Given the description of an element on the screen output the (x, y) to click on. 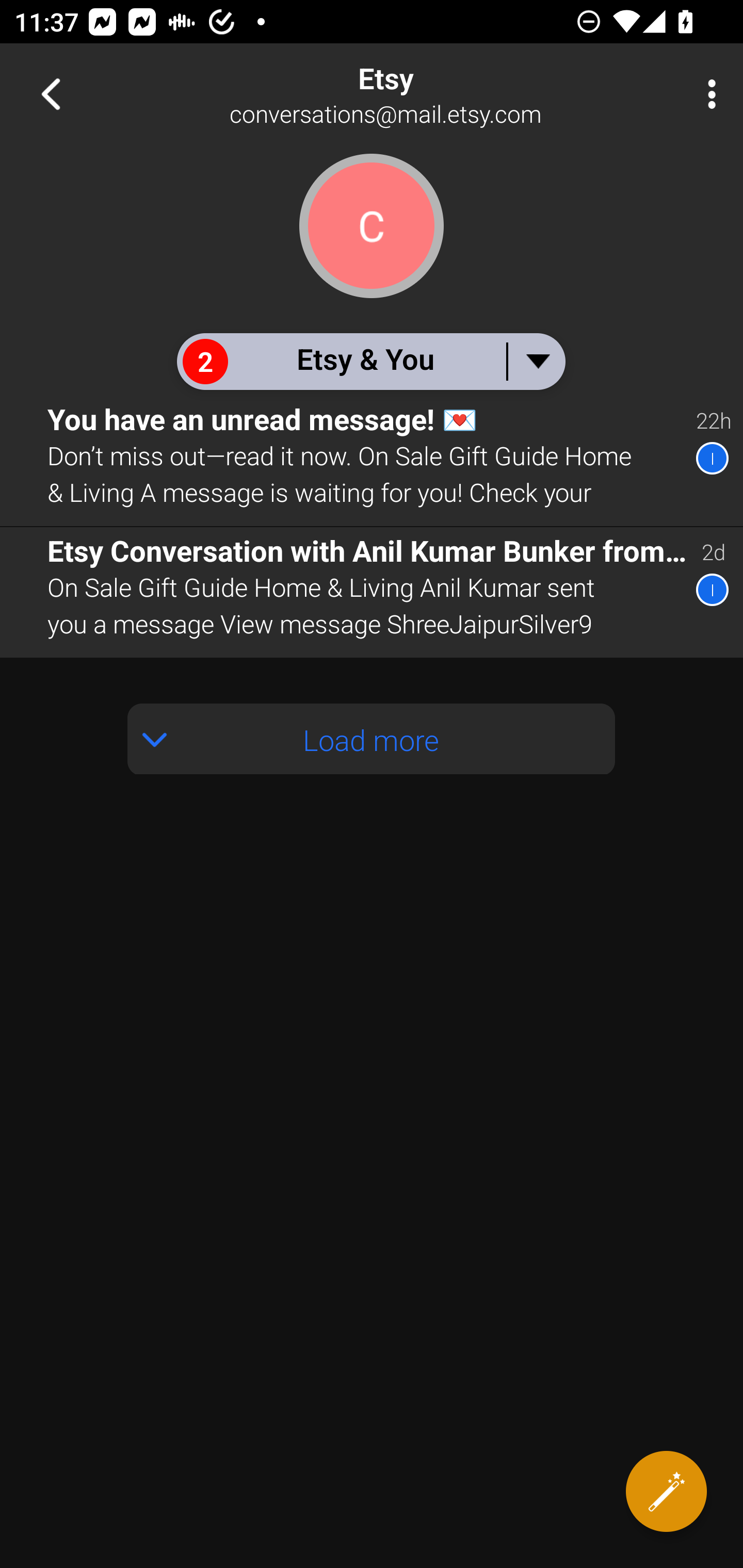
Navigate up (50, 93)
Etsy conversations@mail.etsy.com (436, 93)
More Options (706, 93)
2 Etsy & You (370, 361)
Load more (371, 739)
